Given the description of an element on the screen output the (x, y) to click on. 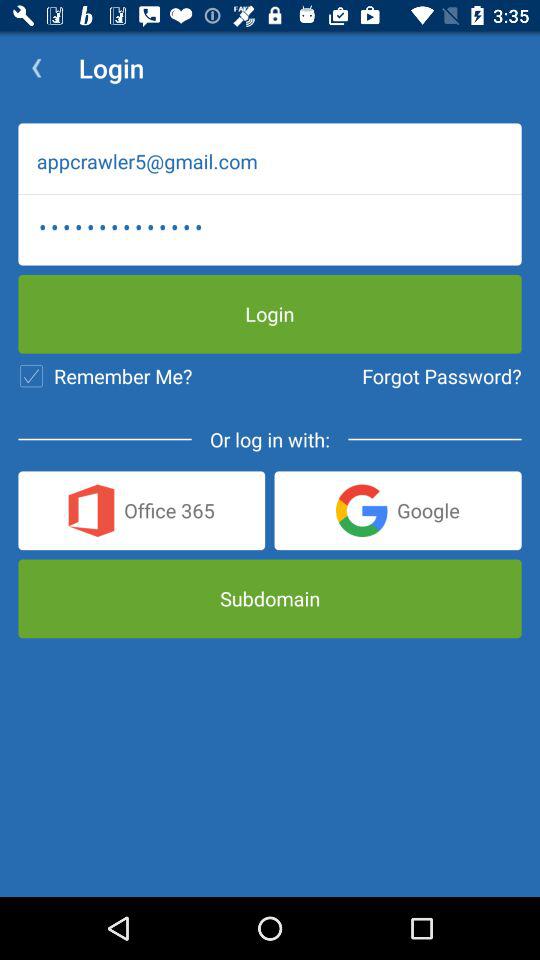
turn on the subdomain (269, 598)
